Given the description of an element on the screen output the (x, y) to click on. 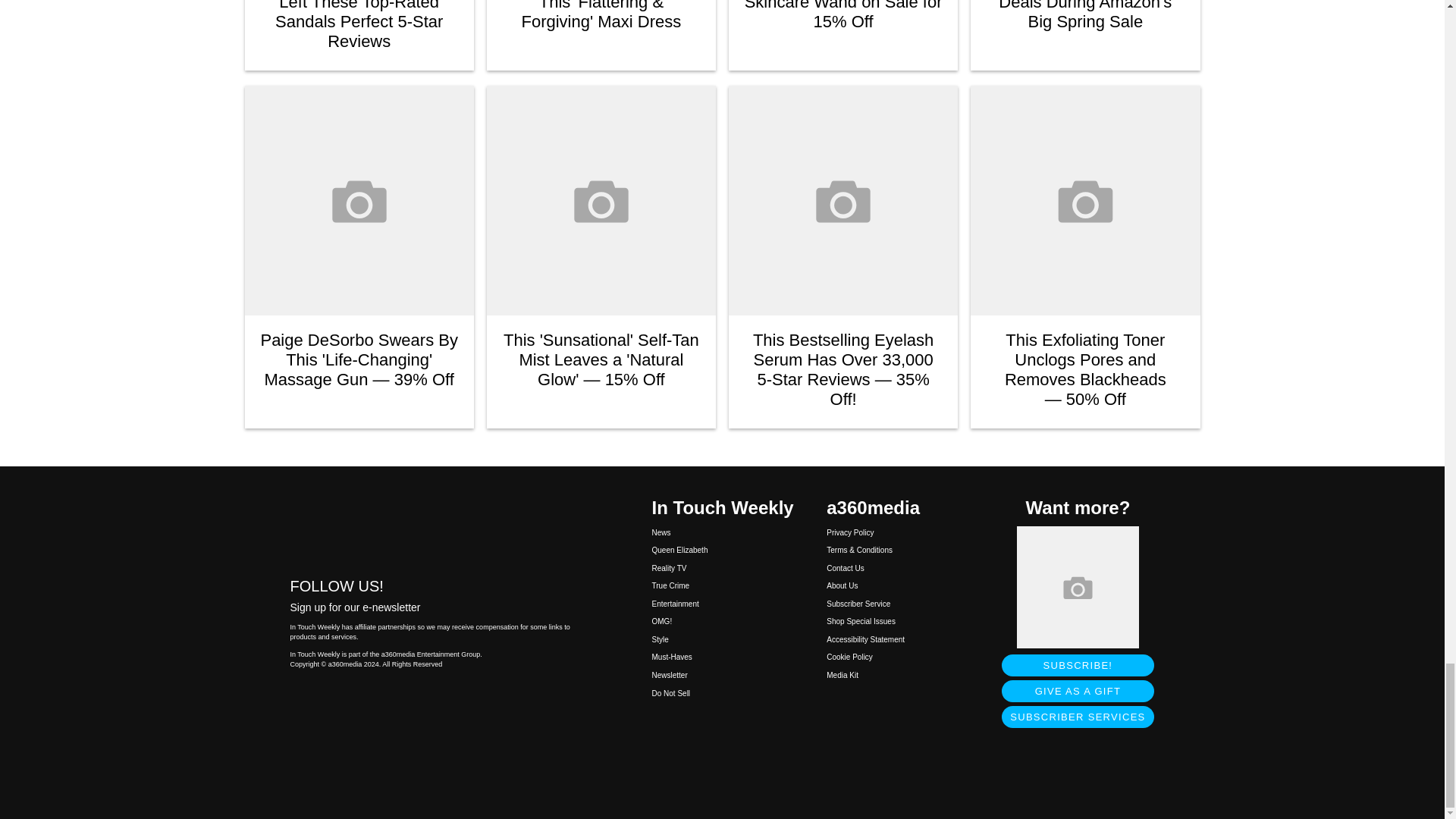
Home (434, 526)
